Given the description of an element on the screen output the (x, y) to click on. 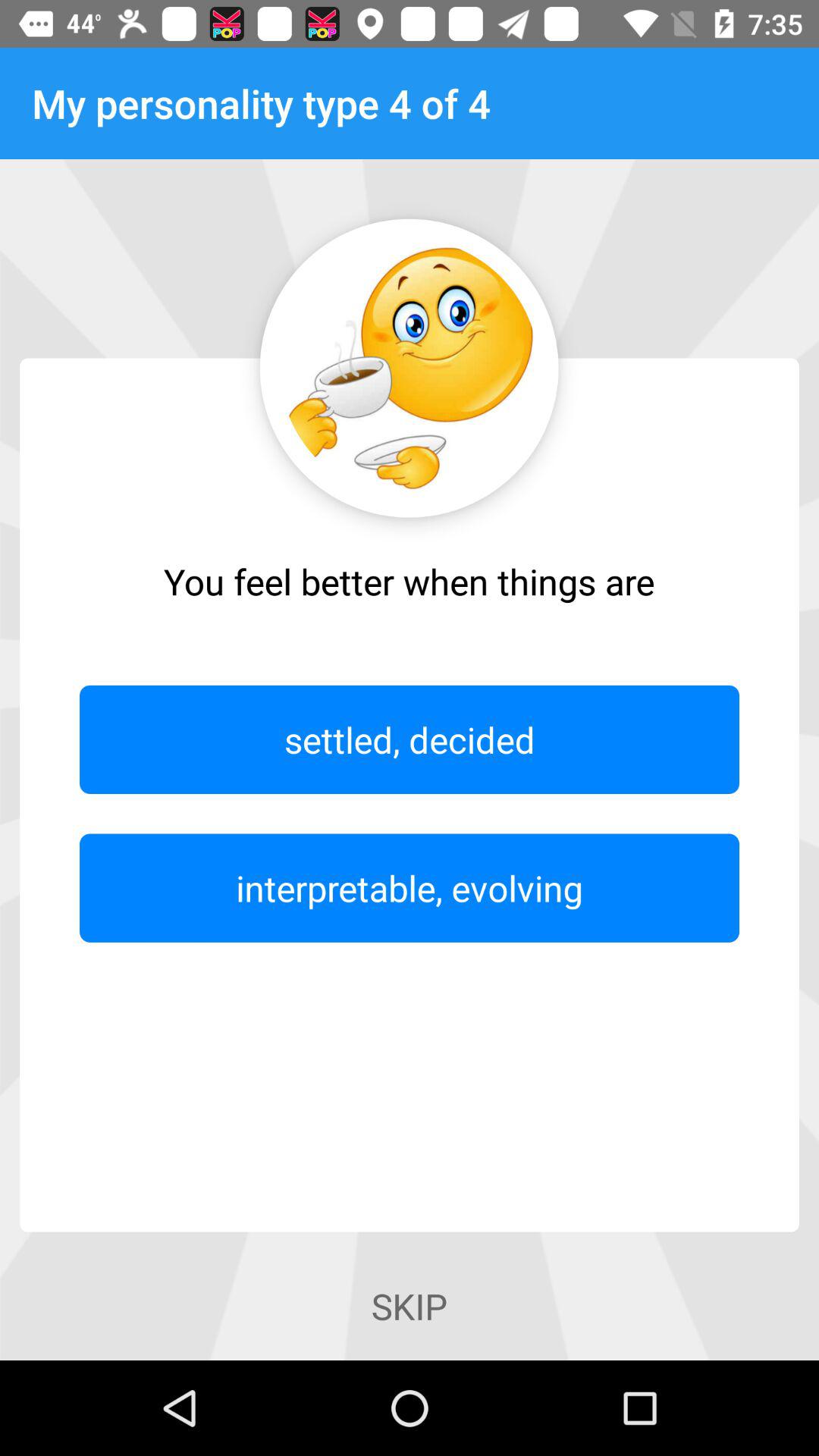
tap the settled, decided (409, 739)
